Given the description of an element on the screen output the (x, y) to click on. 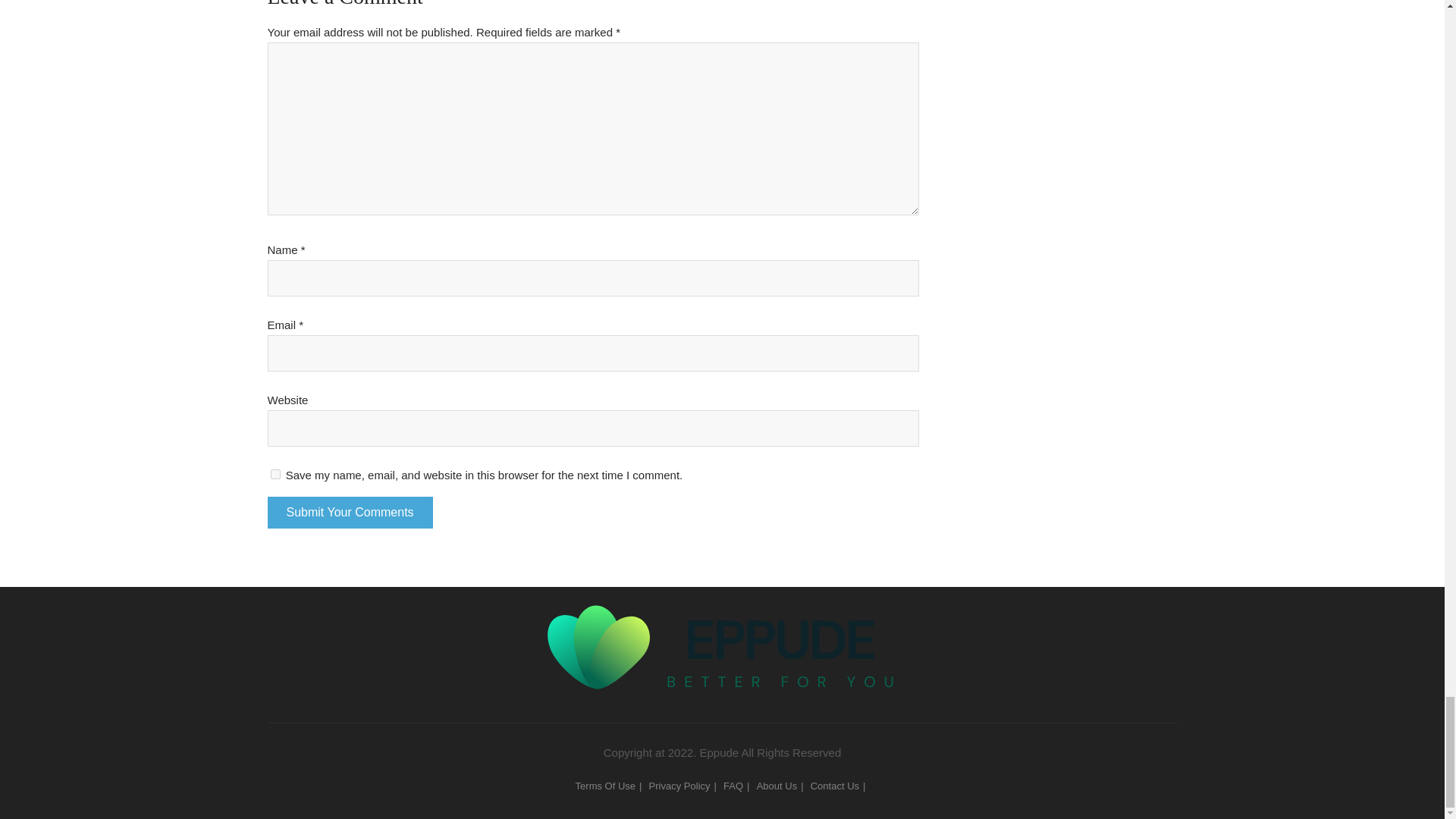
Submit Your Comments (349, 512)
Submit Your Comments (349, 512)
yes (274, 474)
Eppude (721, 621)
